Given the description of an element on the screen output the (x, y) to click on. 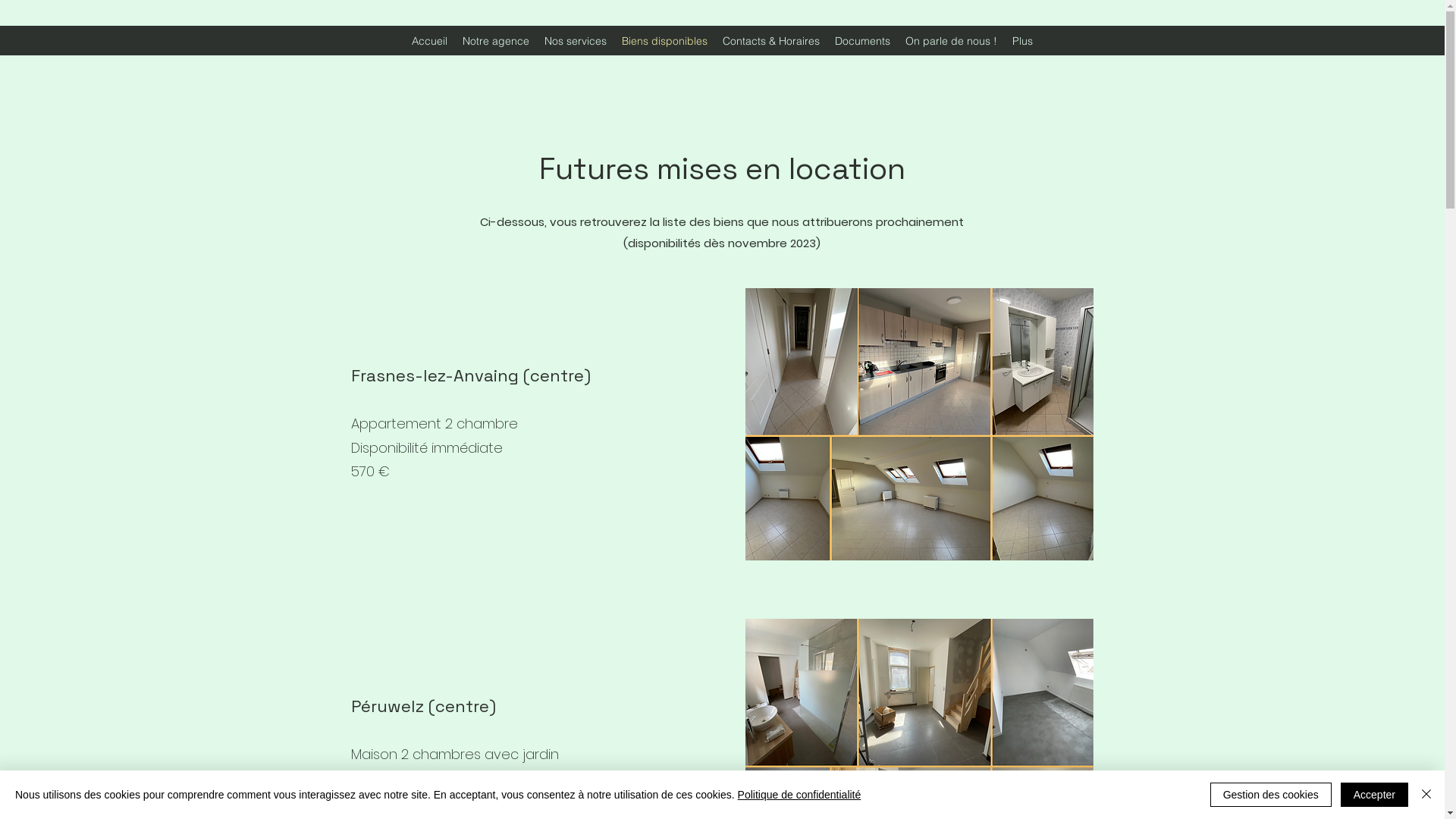
Documents Element type: text (862, 40)
On parle de nous ! Element type: text (950, 40)
Accepter Element type: text (1374, 794)
Contacts & Horaires Element type: text (771, 40)
Notre agence Element type: text (495, 40)
Biens disponibles Element type: text (664, 40)
Accueil Element type: text (429, 40)
Gestion des cookies Element type: text (1270, 794)
